Given the description of an element on the screen output the (x, y) to click on. 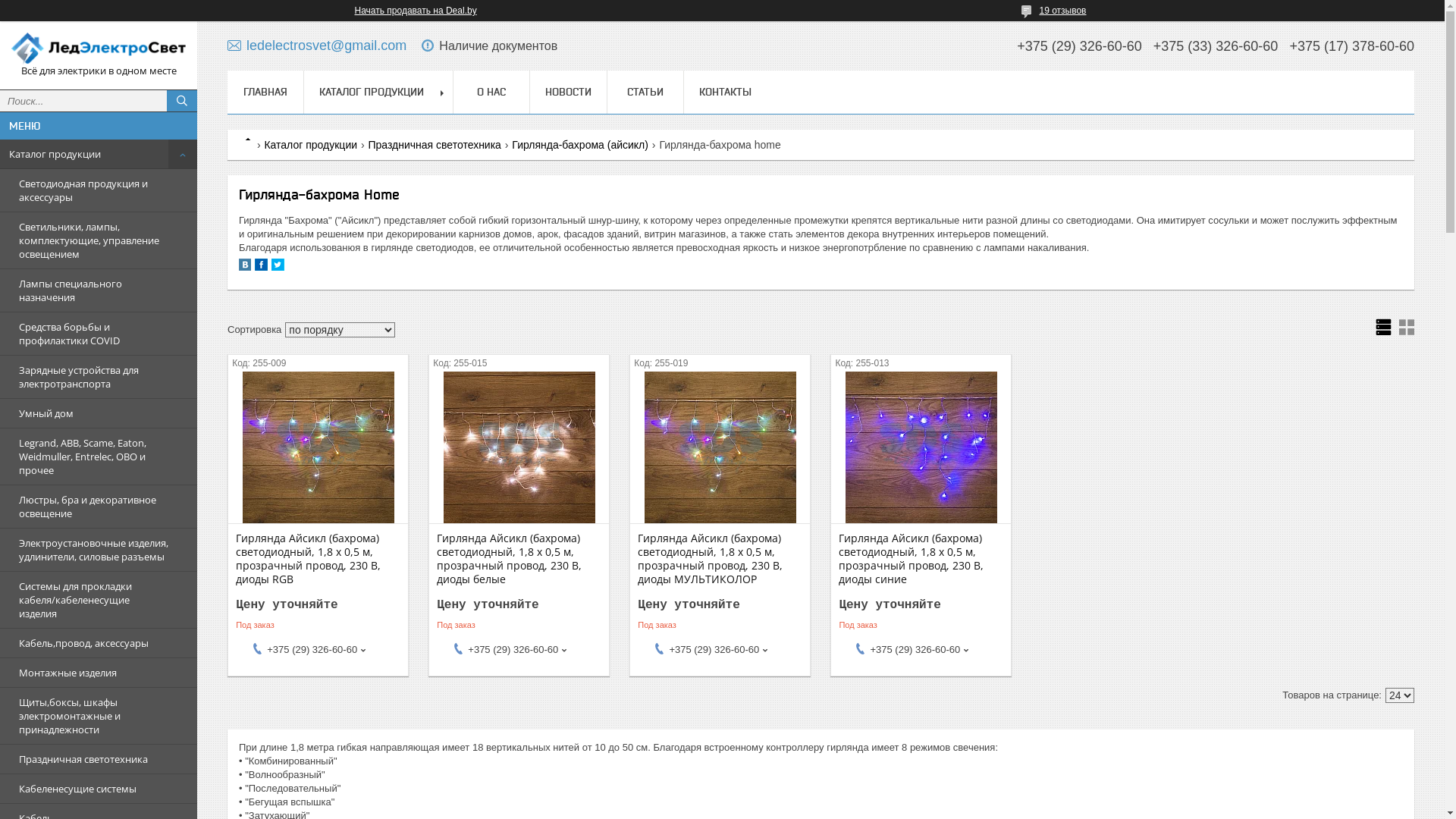
ledelectrosvet@gmail.com Element type: text (316, 45)
twitter Element type: hover (277, 267)
facebook Element type: hover (260, 267)
